Given the description of an element on the screen output the (x, y) to click on. 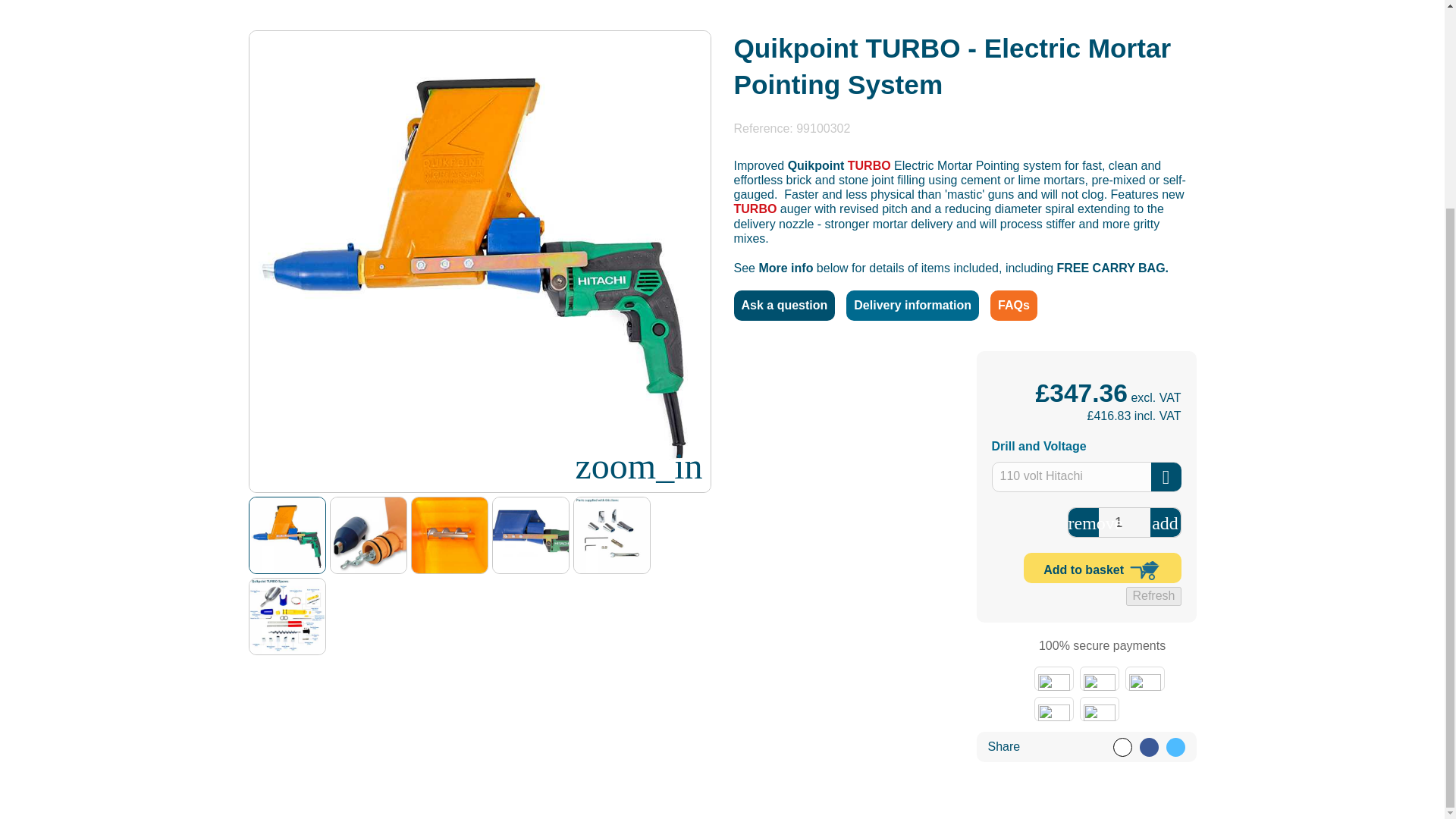
Refresh (1152, 596)
Quikpoint PLUS with Hitachi drill mounting detail (531, 535)
1 (1123, 521)
